Given the description of an element on the screen output the (x, y) to click on. 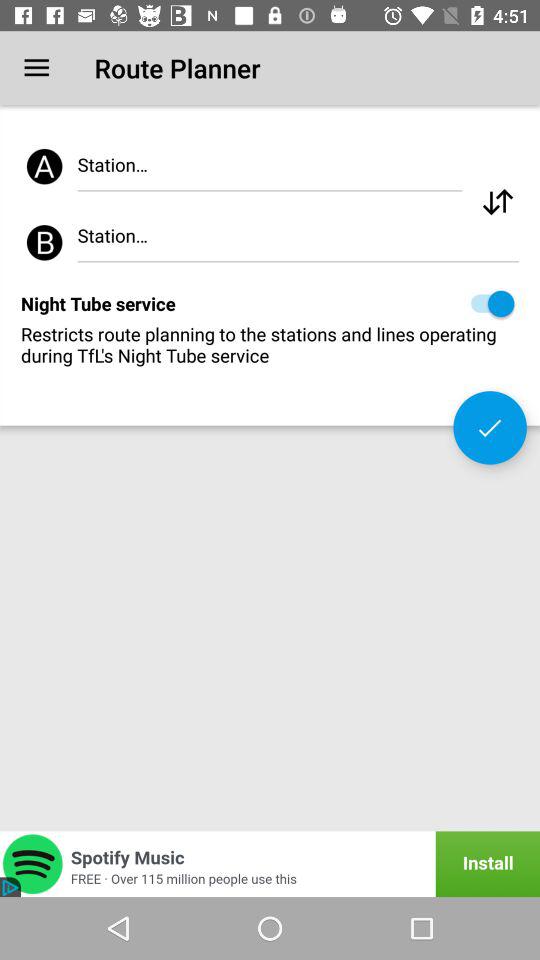
save changes (489, 427)
